Given the description of an element on the screen output the (x, y) to click on. 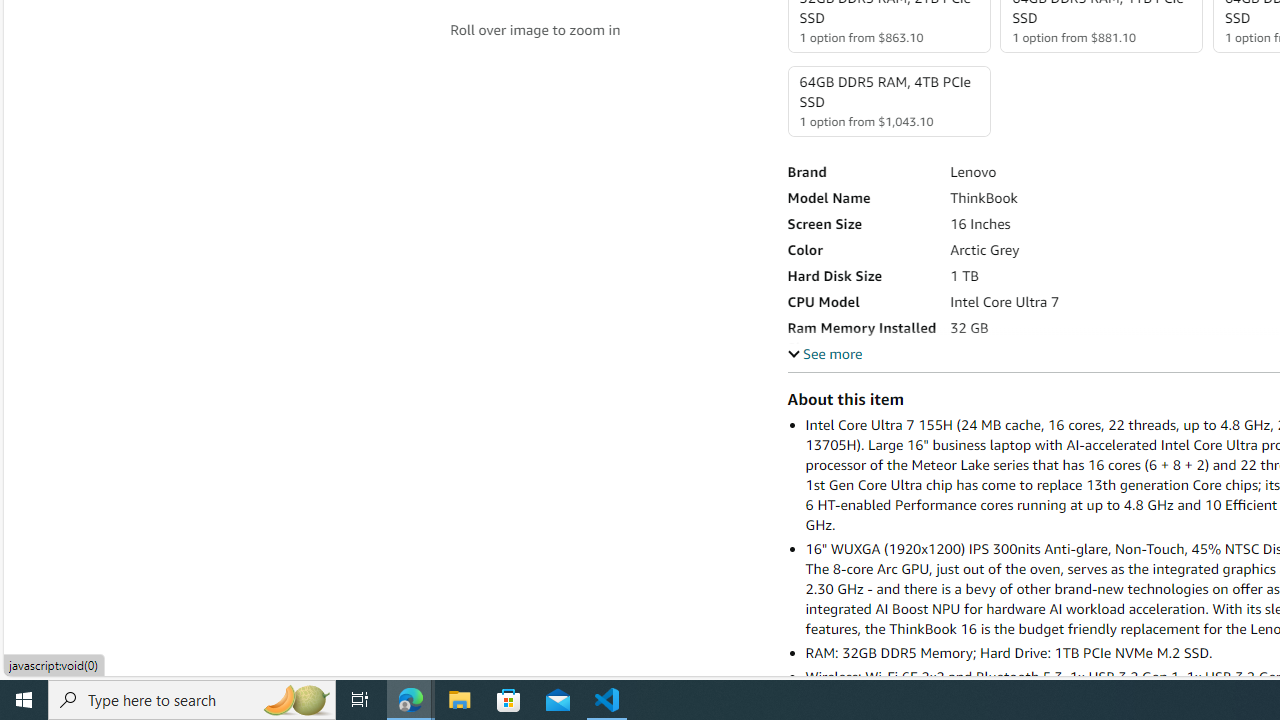
64GB DDR5 RAM, 4TB PCIe SSD 1 option from $1,043.10 (888, 101)
